Given the description of an element on the screen output the (x, y) to click on. 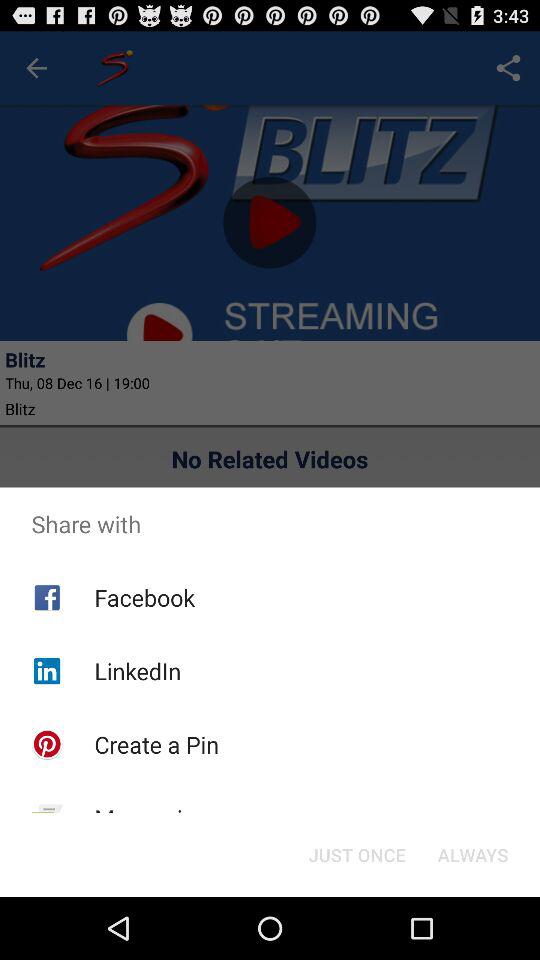
launch icon next to always (356, 854)
